Given the description of an element on the screen output the (x, y) to click on. 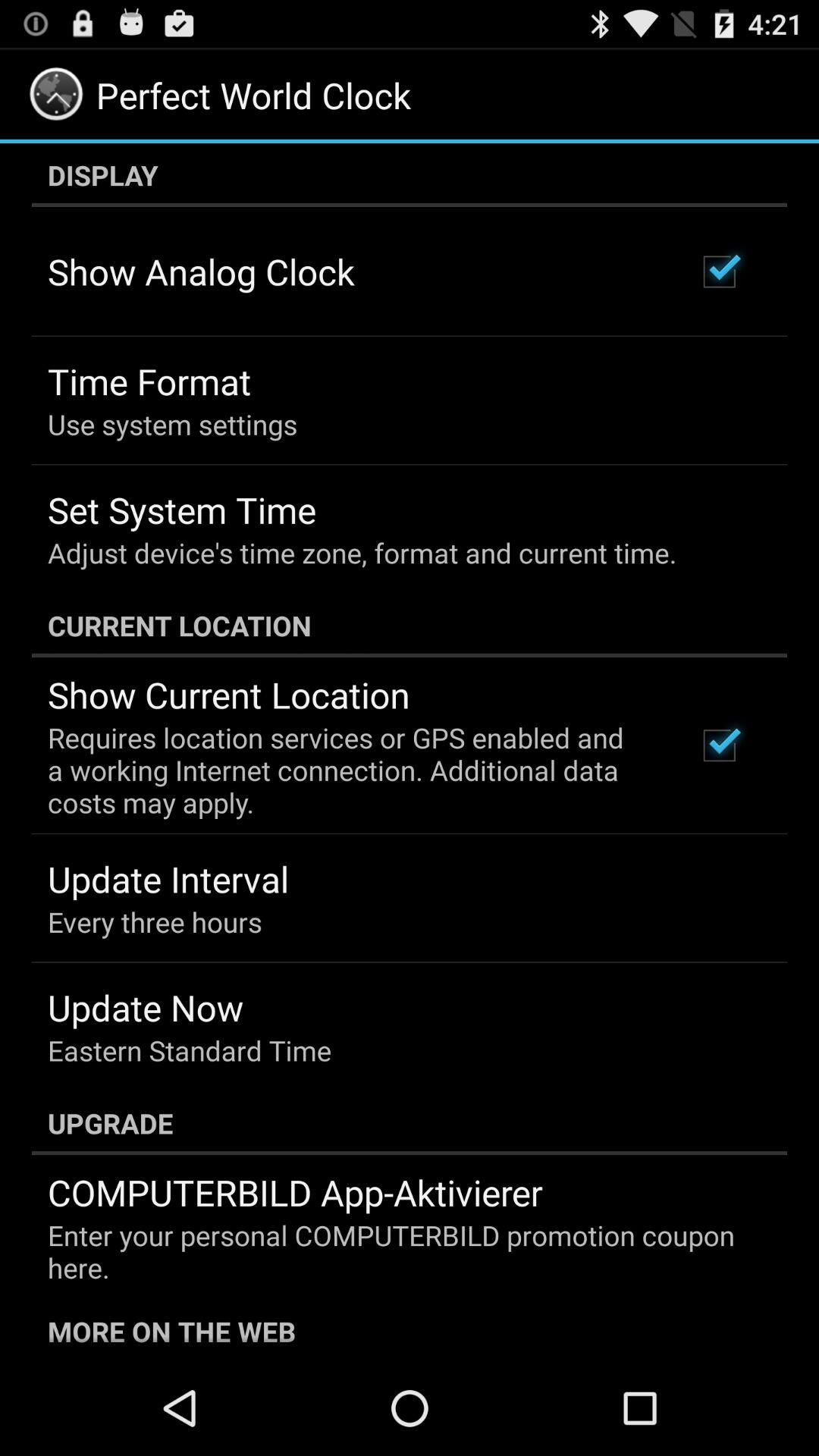
choose app above the time format item (200, 271)
